Given the description of an element on the screen output the (x, y) to click on. 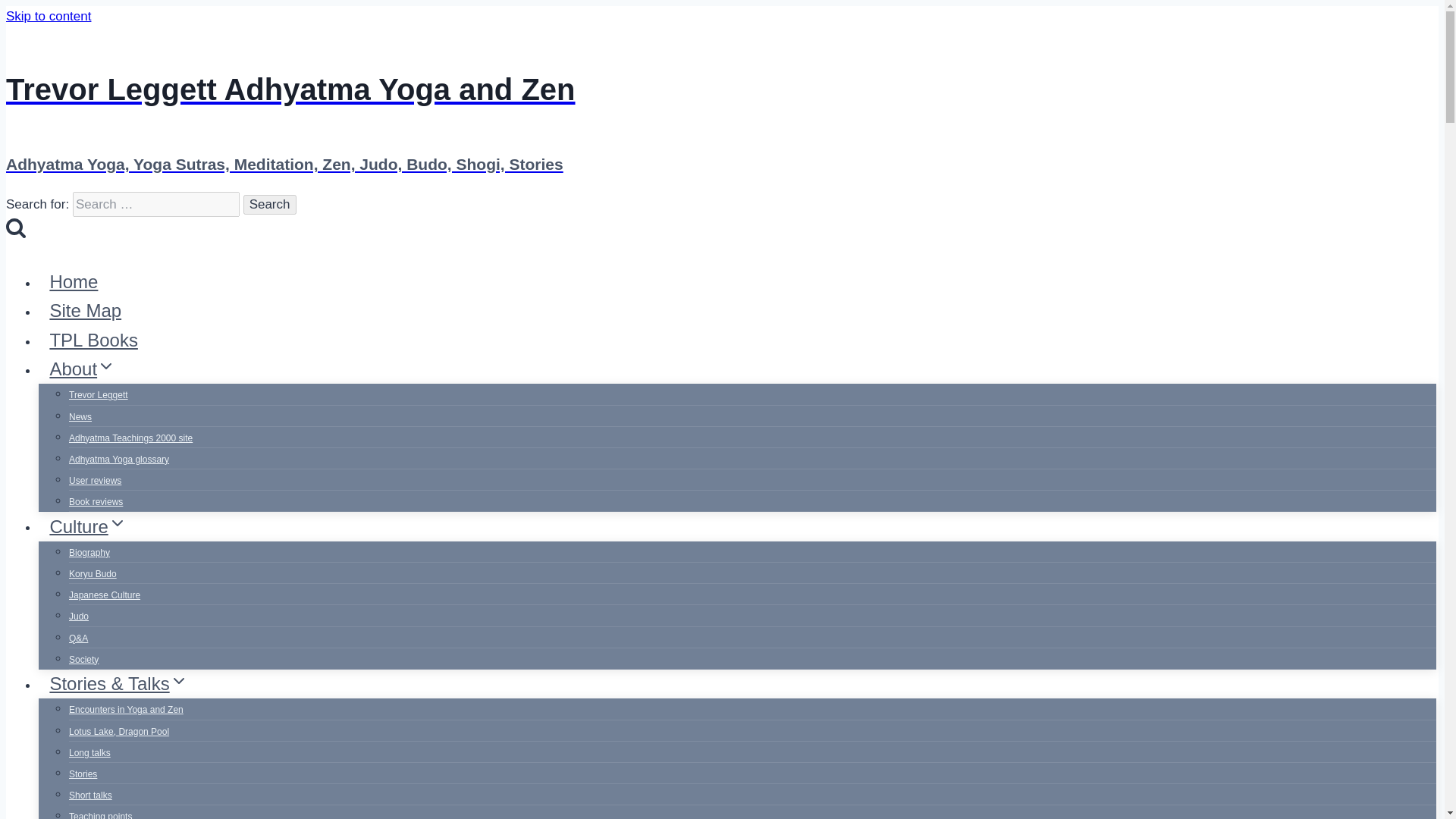
AboutExpand (82, 368)
Society (83, 659)
Expand (106, 366)
Search (270, 204)
Adhyatma Teachings 2000 site (130, 438)
Biography (89, 552)
Teaching points (100, 810)
Long talks (89, 752)
Stories (82, 774)
Skip to content (47, 16)
